Given the description of an element on the screen output the (x, y) to click on. 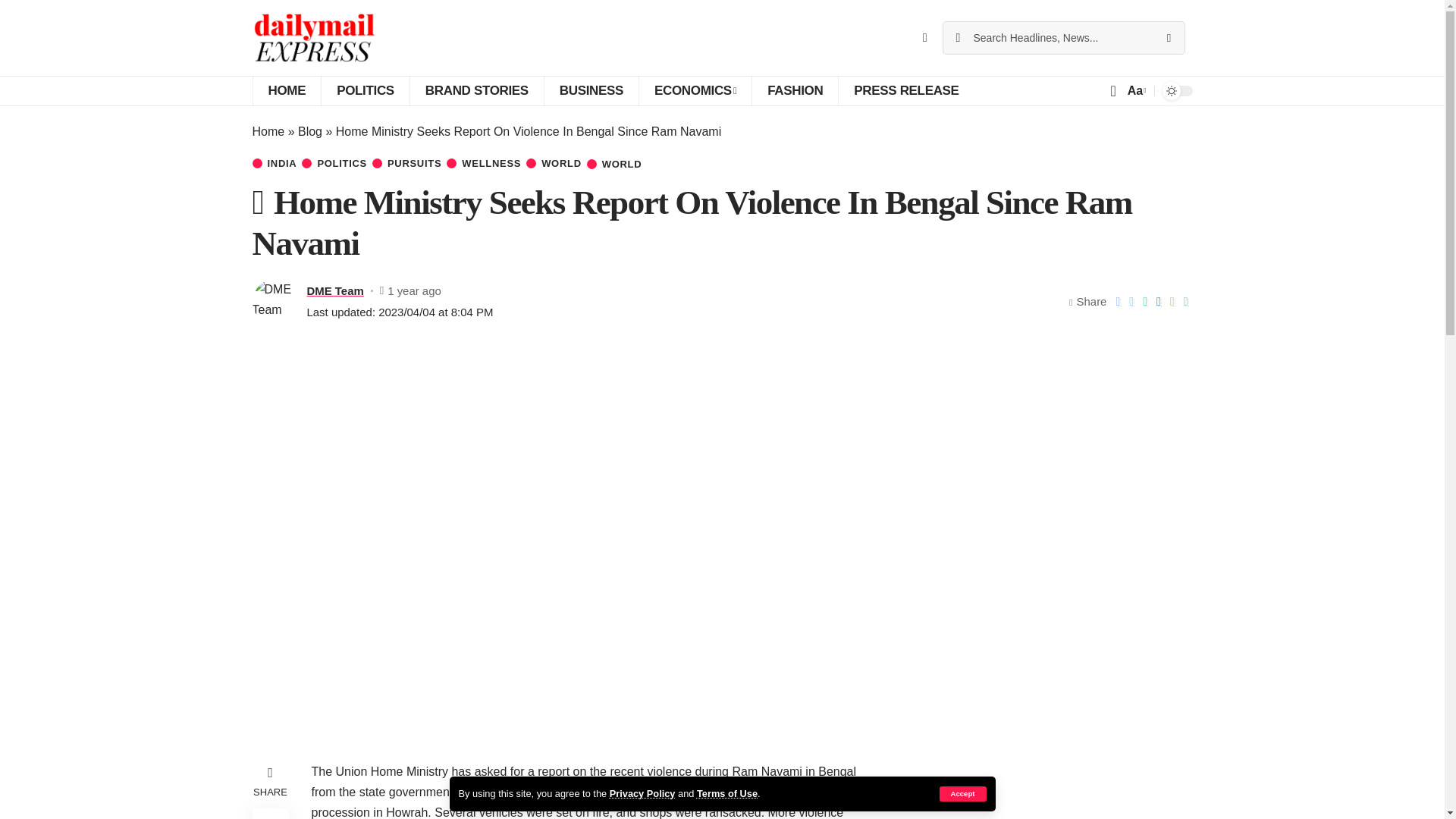
POLITICS (364, 91)
Search (1168, 37)
FASHION (794, 91)
BUSINESS (591, 91)
Privacy Policy (642, 793)
BRAND STORIES (476, 91)
Accept (962, 793)
Daily Mail Express (313, 37)
ECONOMICS (695, 91)
HOME (285, 91)
